Given the description of an element on the screen output the (x, y) to click on. 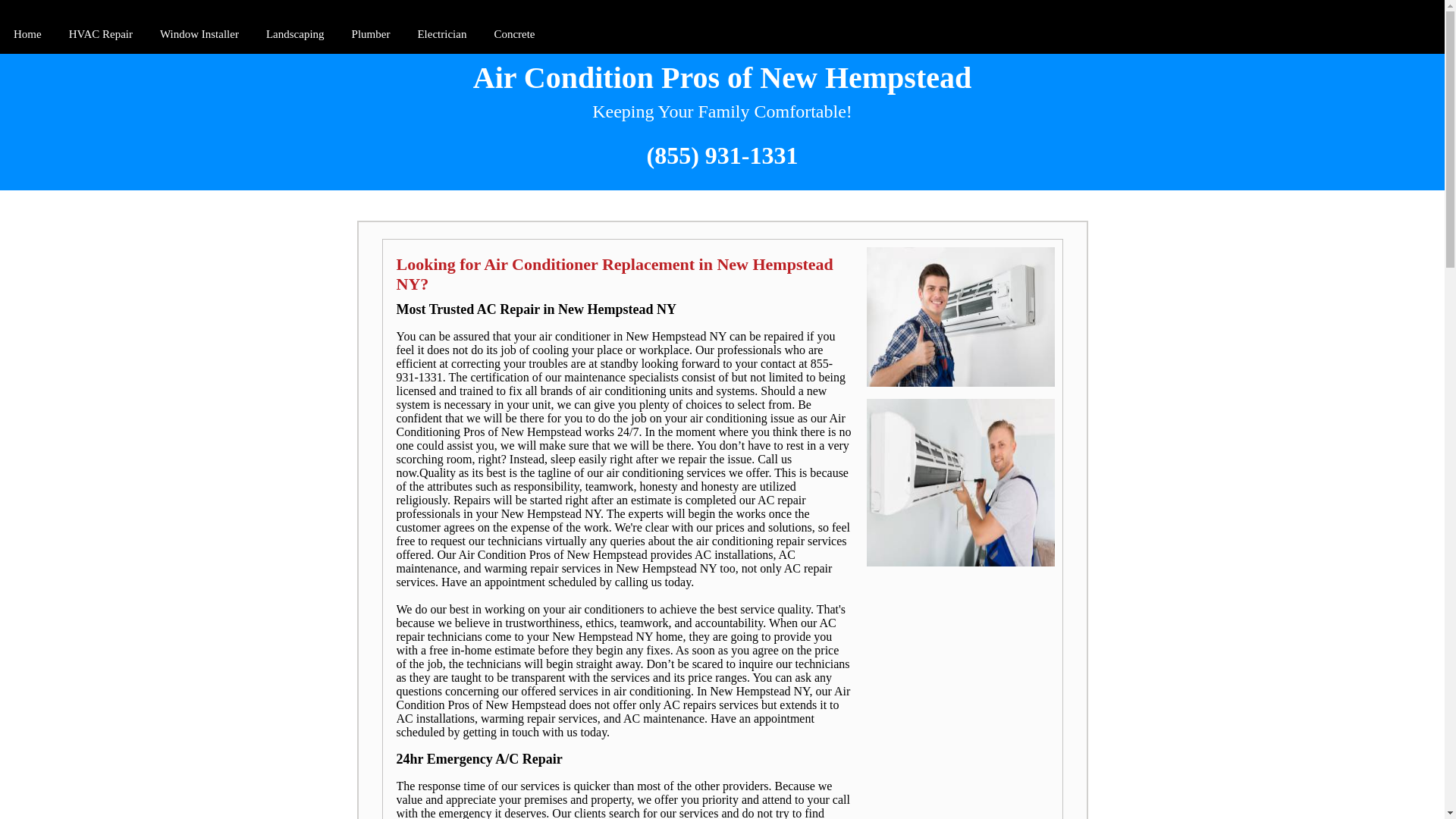
Plumber (370, 34)
Air Condition Pros of New Hempstead (722, 77)
Concrete (513, 34)
Electrician (441, 34)
Home (27, 34)
HVAC Repair (100, 34)
Window Installer (199, 34)
Landscaping (295, 34)
